Given the description of an element on the screen output the (x, y) to click on. 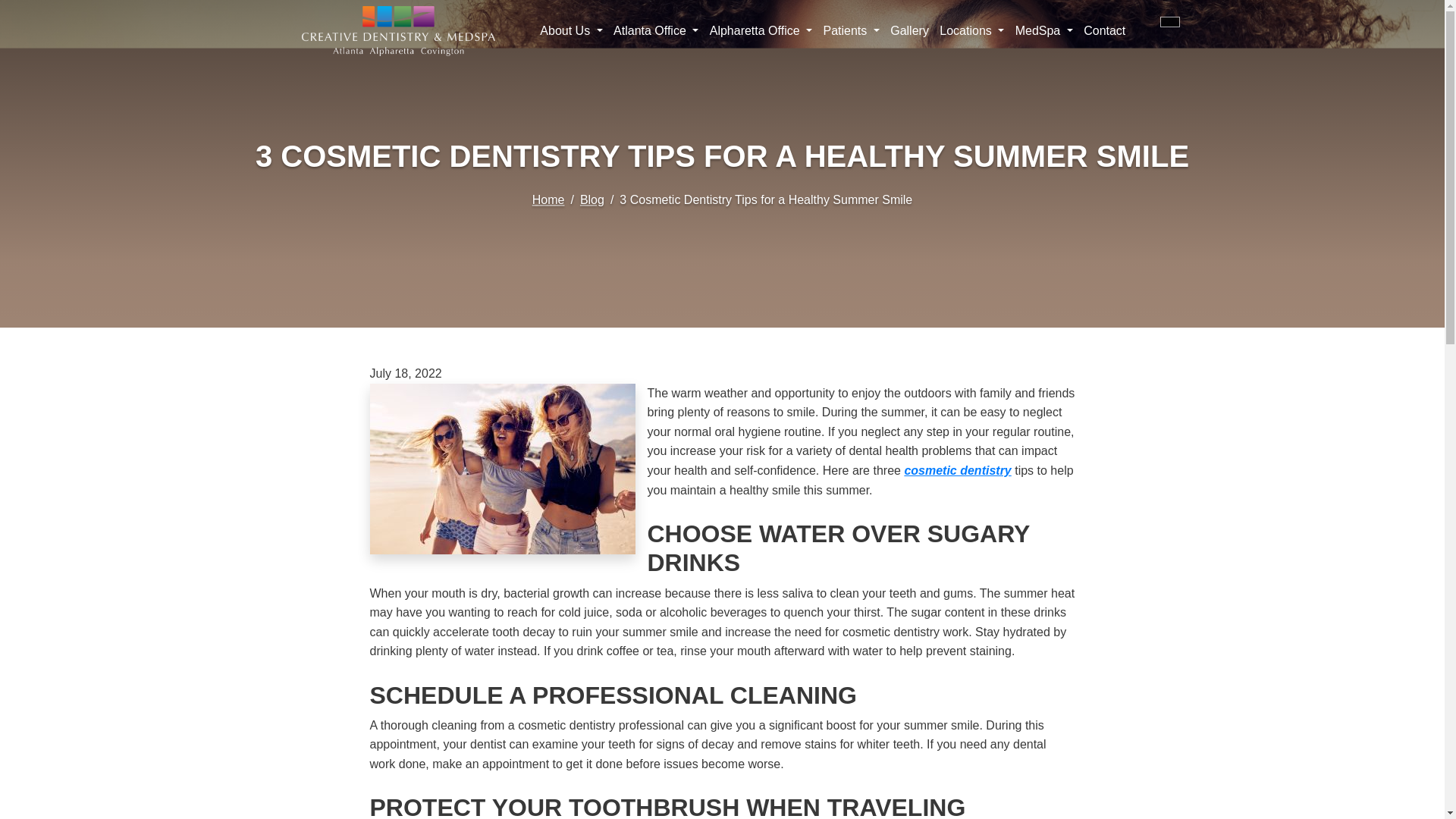
About Us (571, 30)
Switch to high color contrast version of the website (1169, 21)
Atlanta GA Cosmetic Dentist (957, 470)
Atlanta Office (656, 30)
summer-beauty (501, 469)
SKIP TO MAIN CONTENT (21, 6)
